Given the description of an element on the screen output the (x, y) to click on. 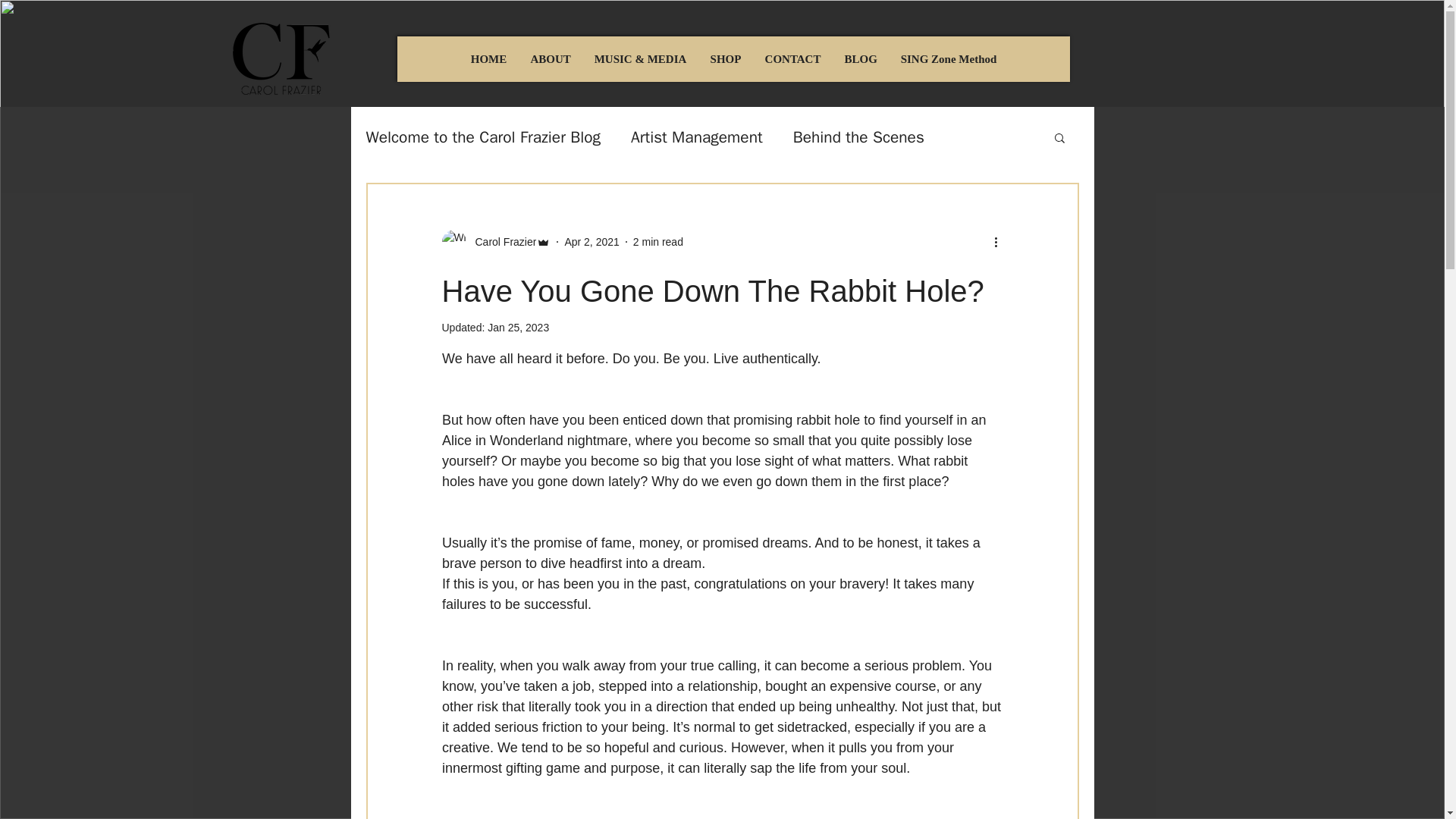
2 min read (657, 241)
Carol Frazier (495, 241)
CONTACT (791, 58)
SING Zone Method (948, 58)
SHOP (724, 58)
BLOG (860, 58)
Jan 25, 2023 (517, 327)
ABOUT (550, 58)
Artist Management (696, 137)
HOME (488, 58)
